Given the description of an element on the screen output the (x, y) to click on. 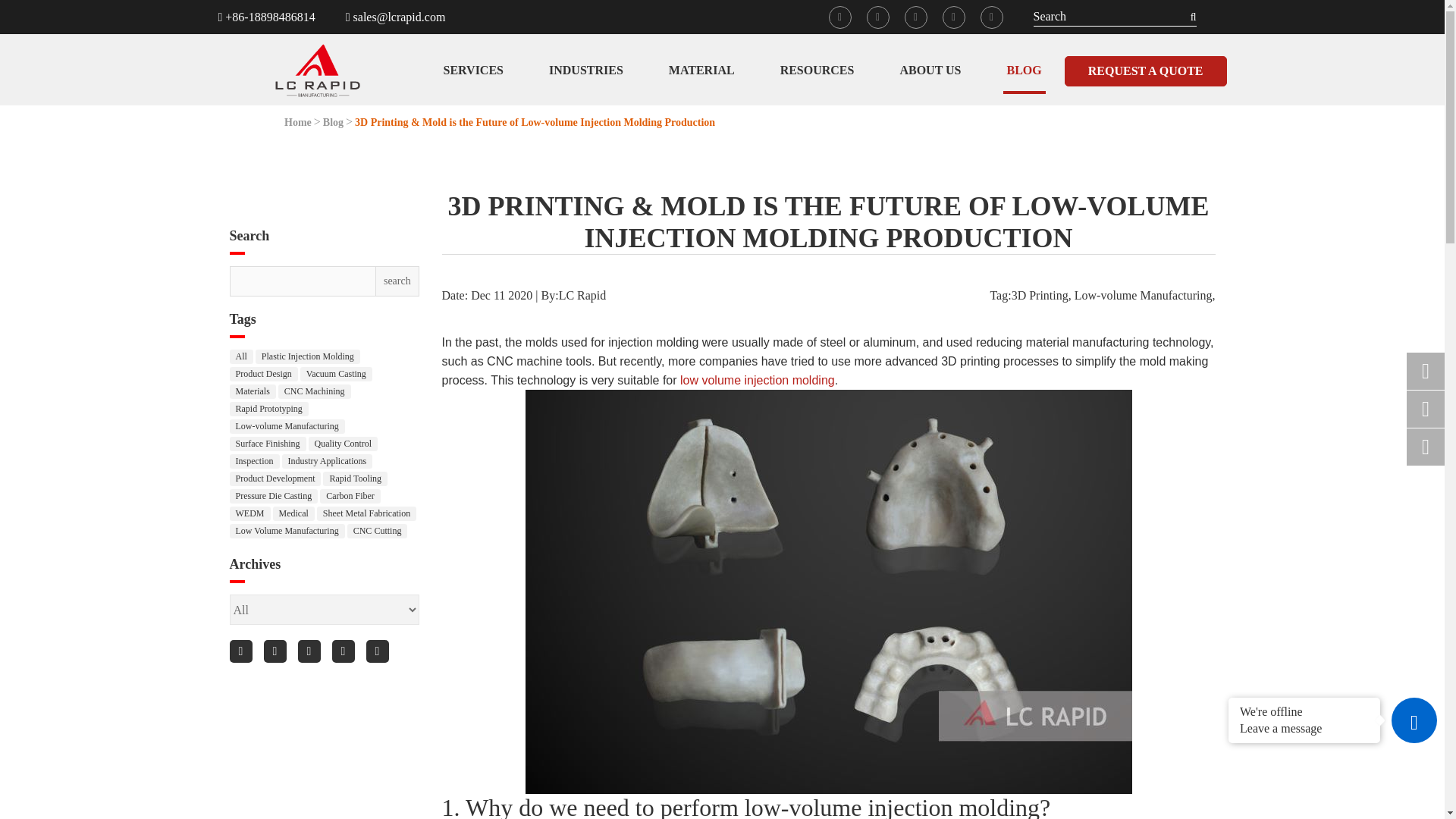
Leave a message (1304, 727)
RESOURCES (817, 70)
INDUSTRIES (585, 70)
MATERIAL (701, 70)
We're offline (1304, 710)
SERVICES (472, 70)
Blog (333, 122)
